Given the description of an element on the screen output the (x, y) to click on. 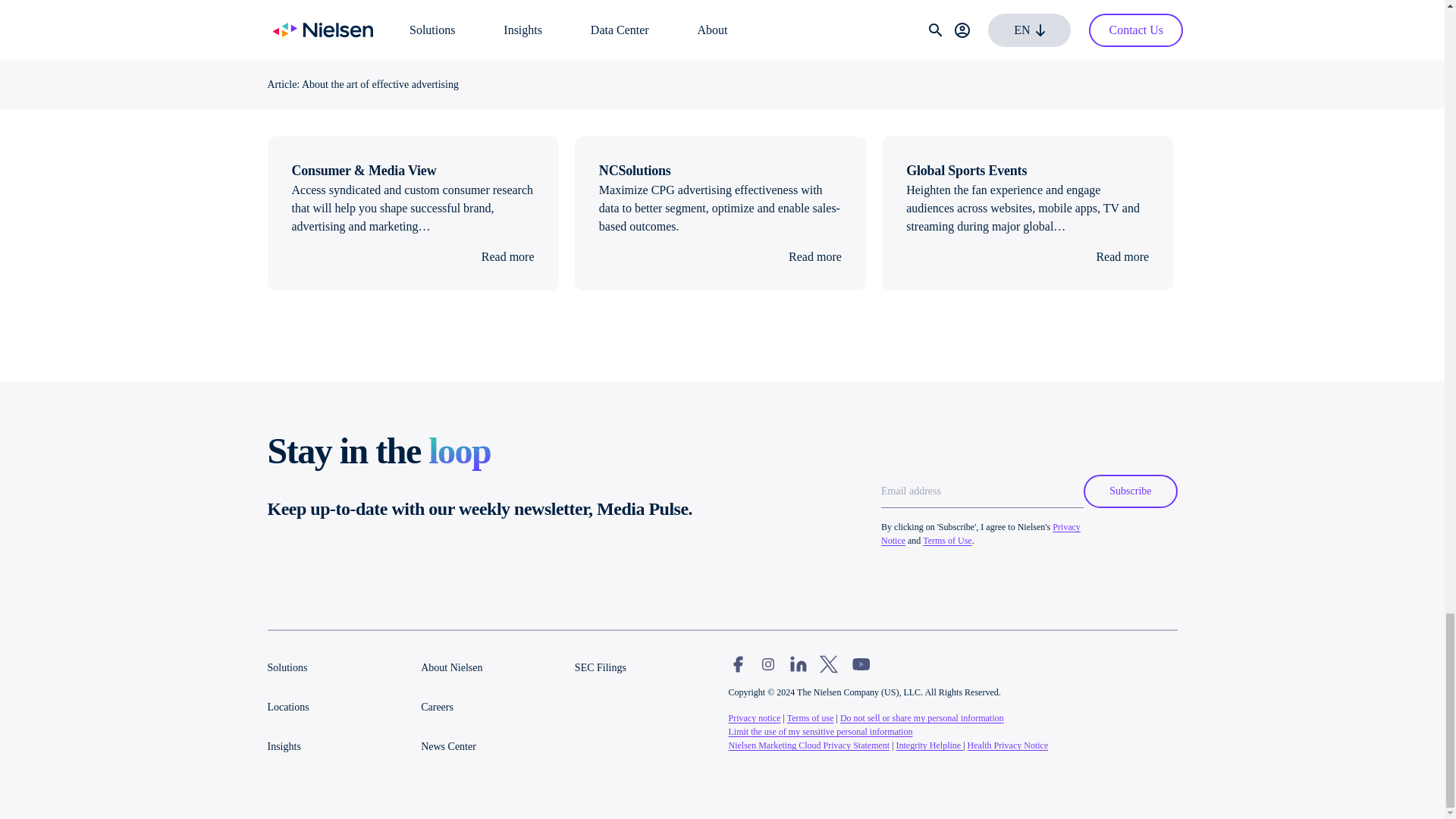
Subscribe (1129, 491)
